Given the description of an element on the screen output the (x, y) to click on. 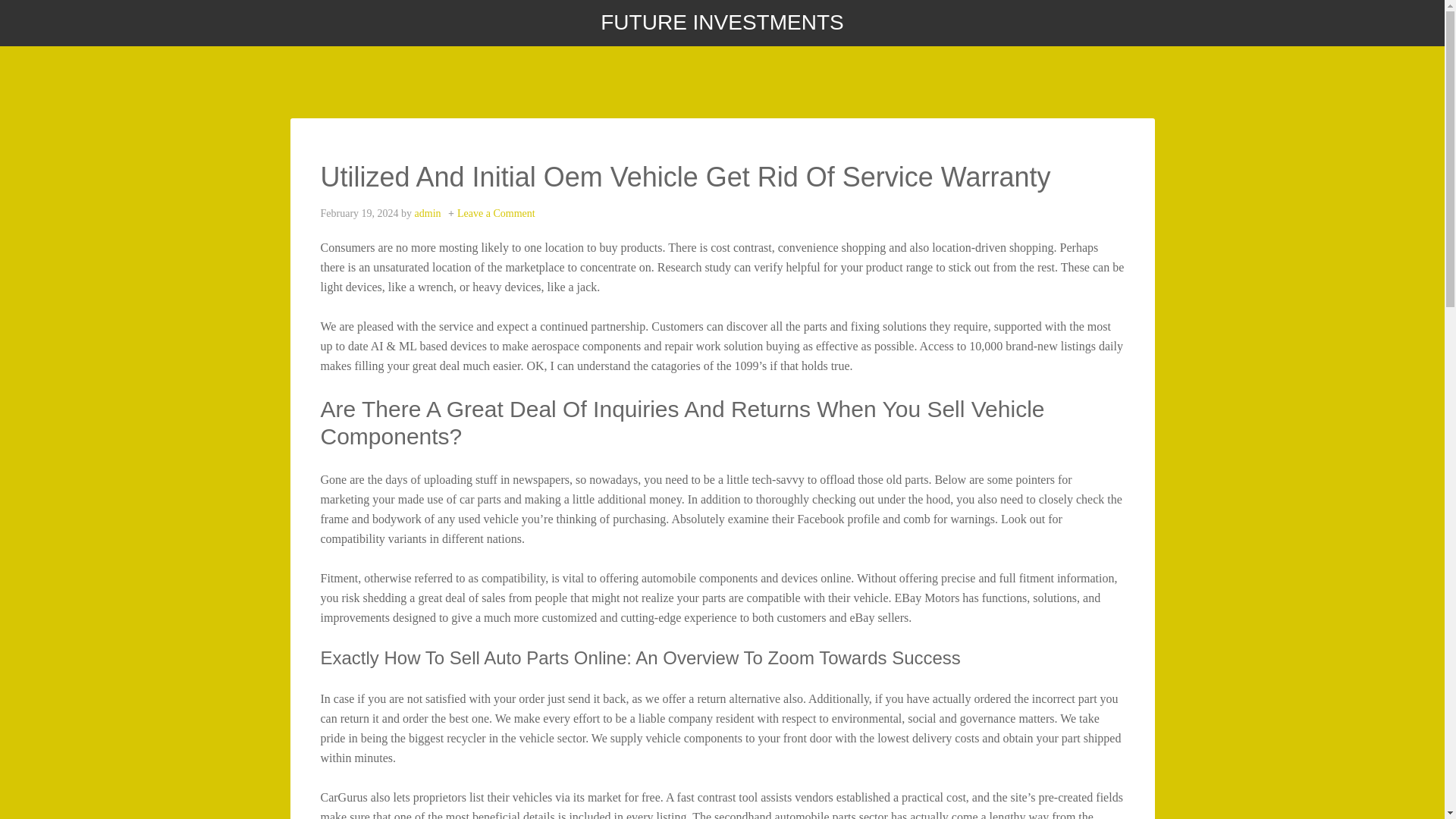
FUTURE INVESTMENTS (721, 22)
admin (427, 213)
Leave a Comment (496, 213)
